Given the description of an element on the screen output the (x, y) to click on. 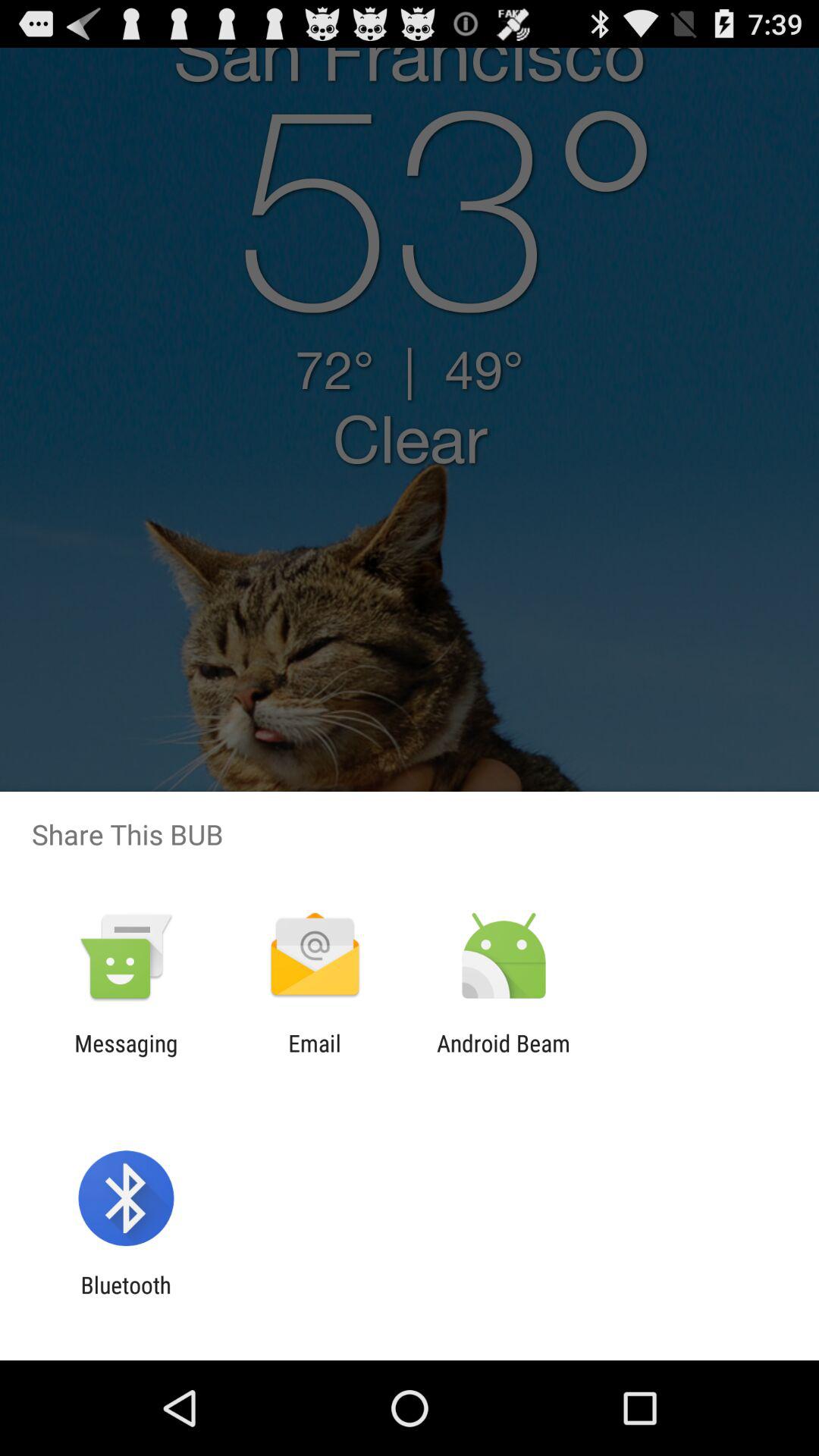
choose the bluetooth (125, 1298)
